Given the description of an element on the screen output the (x, y) to click on. 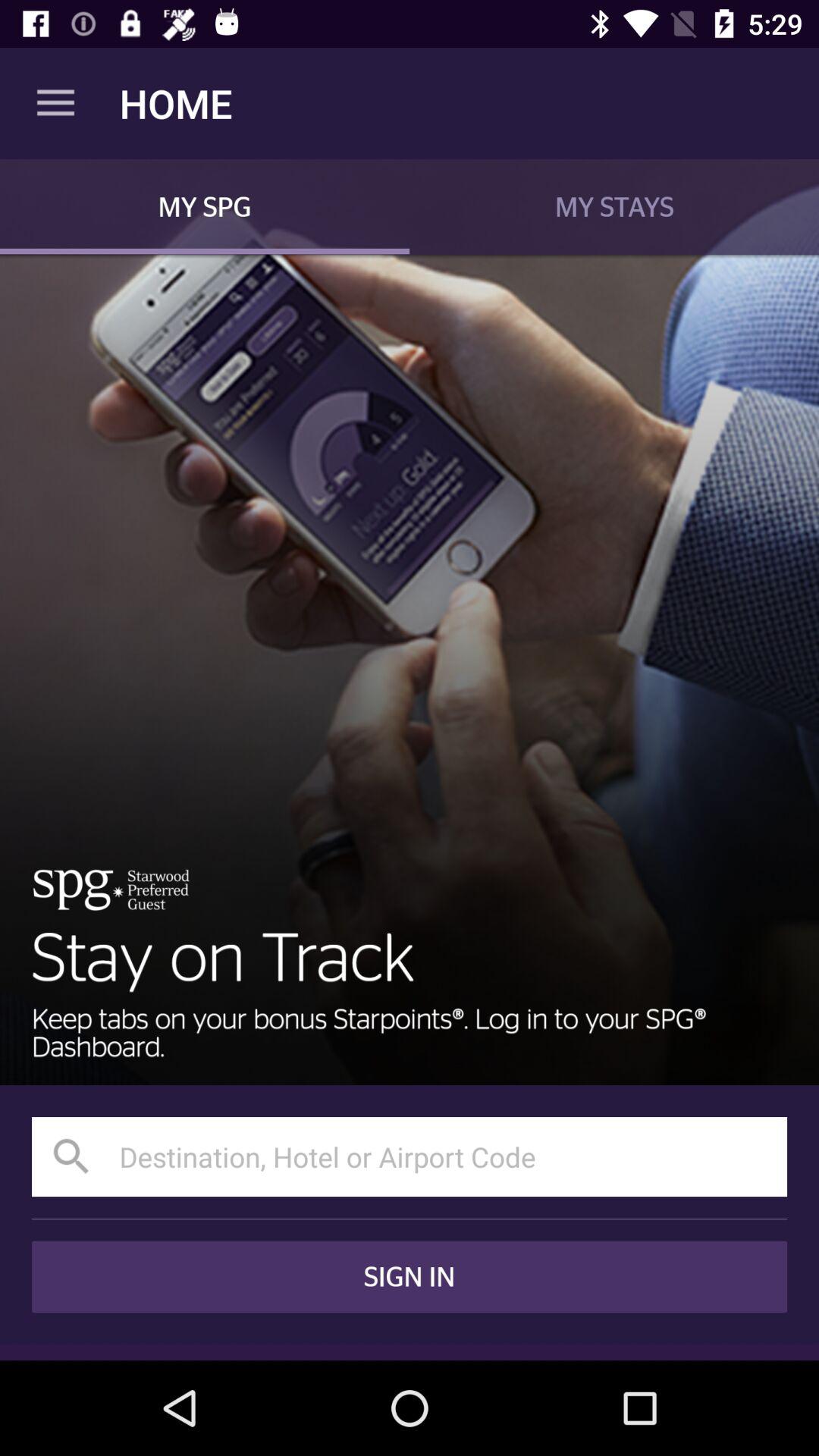
jump to my spg icon (204, 206)
